Given the description of an element on the screen output the (x, y) to click on. 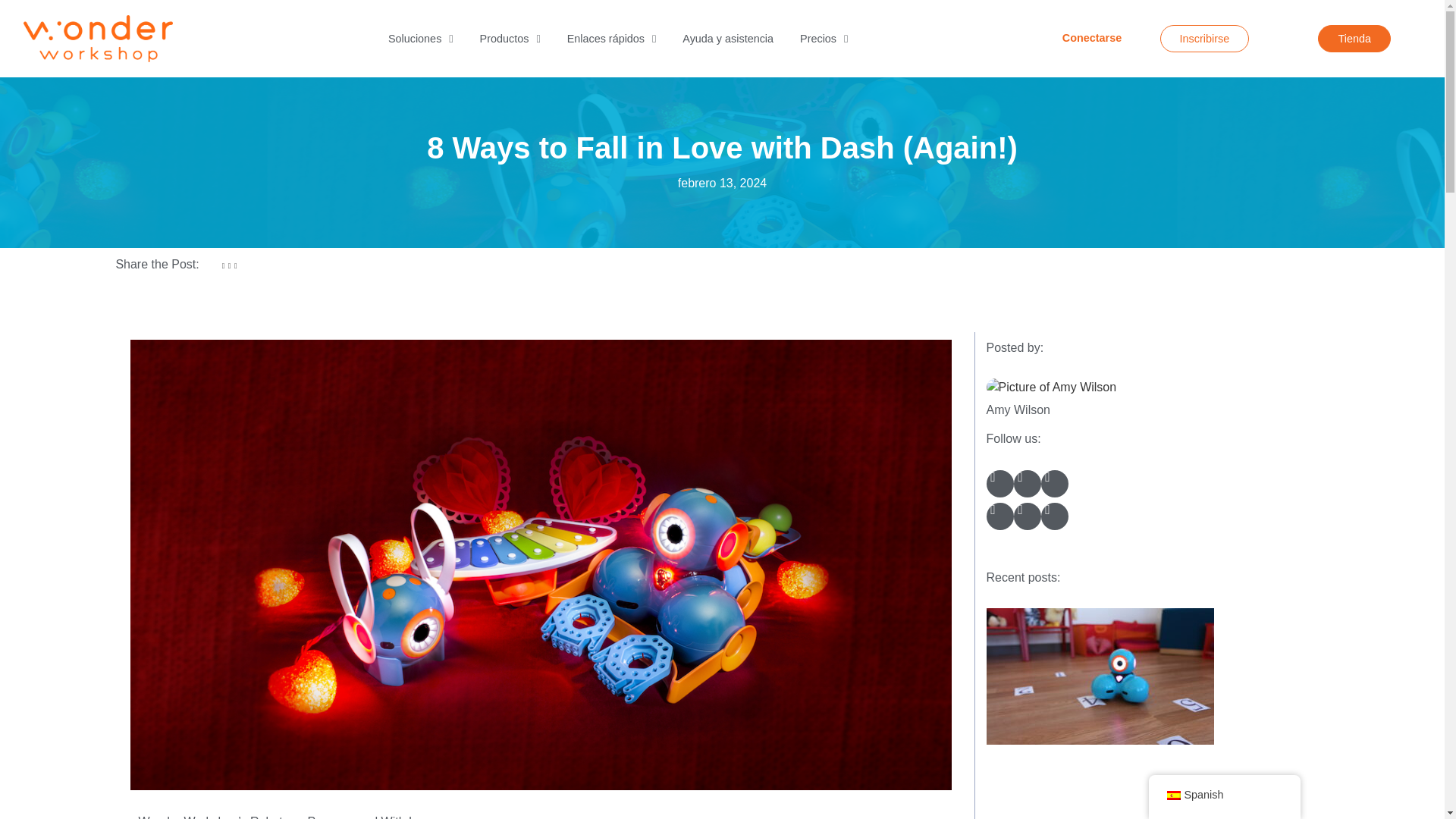
Soluciones (420, 38)
Ayuda y asistencia (727, 38)
Spanish (1172, 795)
Productos (510, 38)
Precios (823, 38)
